Given the description of an element on the screen output the (x, y) to click on. 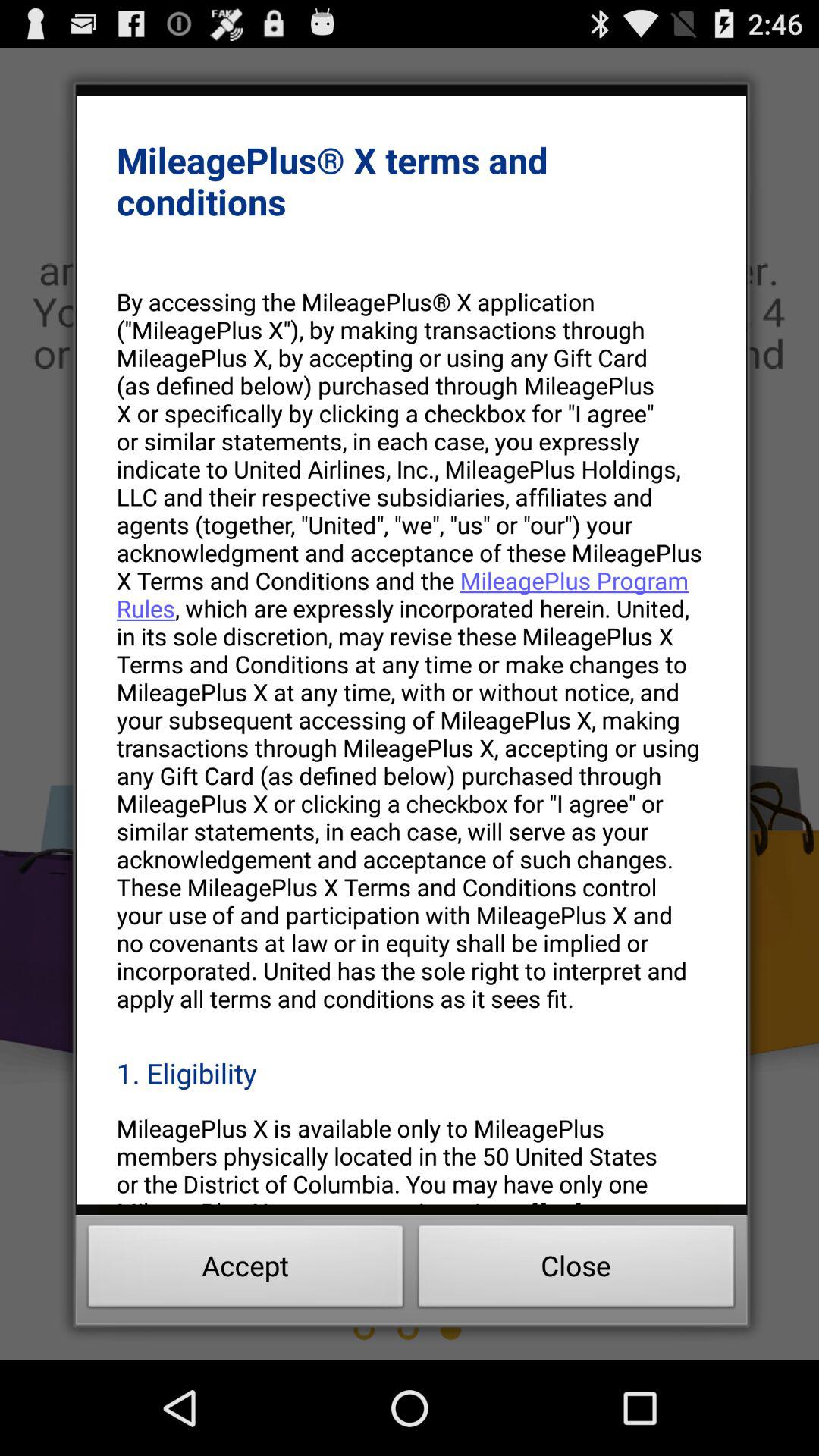
select the app below the mileageplus x is app (245, 1270)
